Given the description of an element on the screen output the (x, y) to click on. 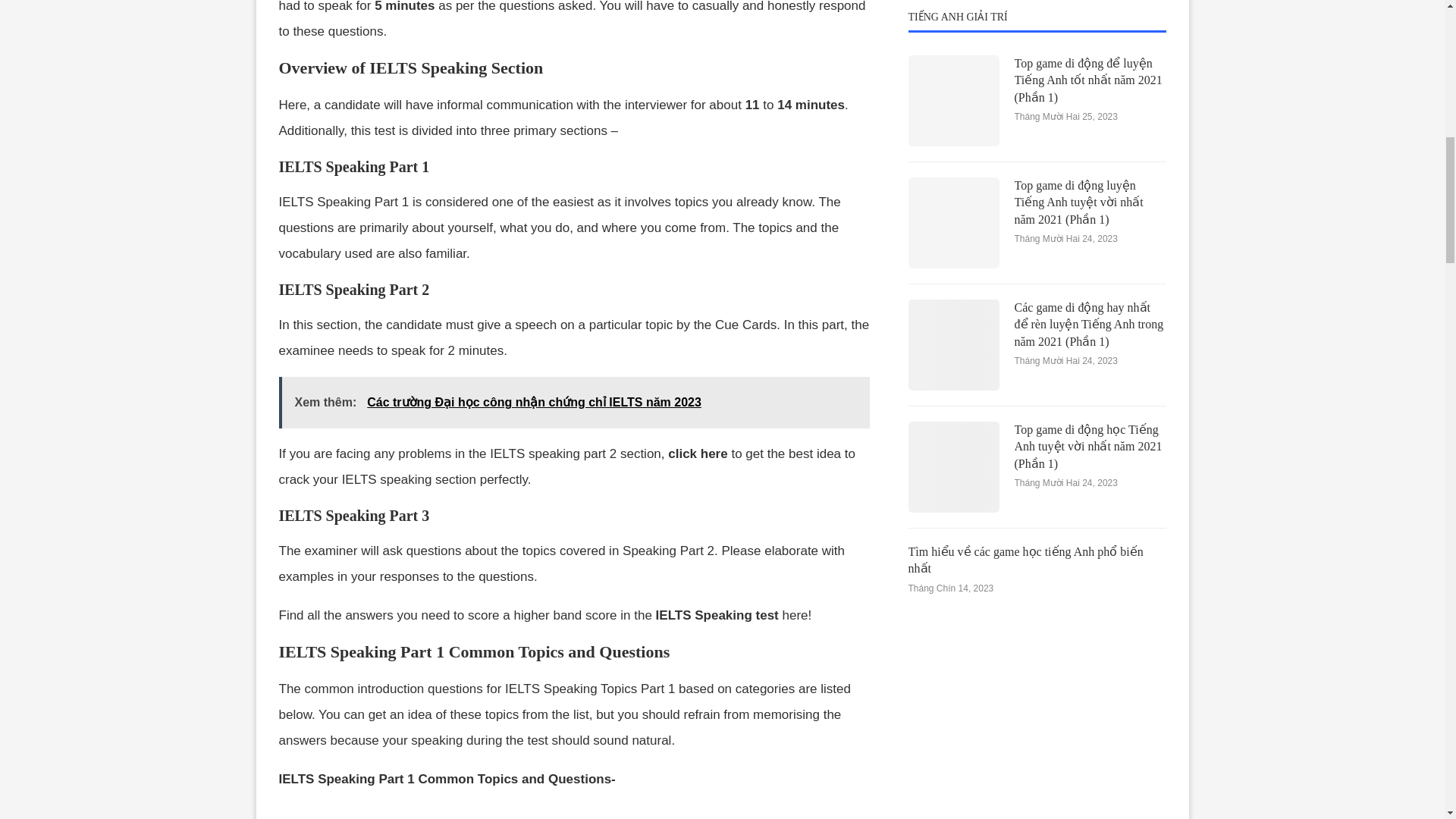
How to prepare for IELTS Speaking Part 1 with LeapScholar (569, 78)
8. Do not use Yes or No answers (572, 16)
Frequently Asked Questions (569, 110)
9. Answer all the questions (572, 46)
